Given the description of an element on the screen output the (x, y) to click on. 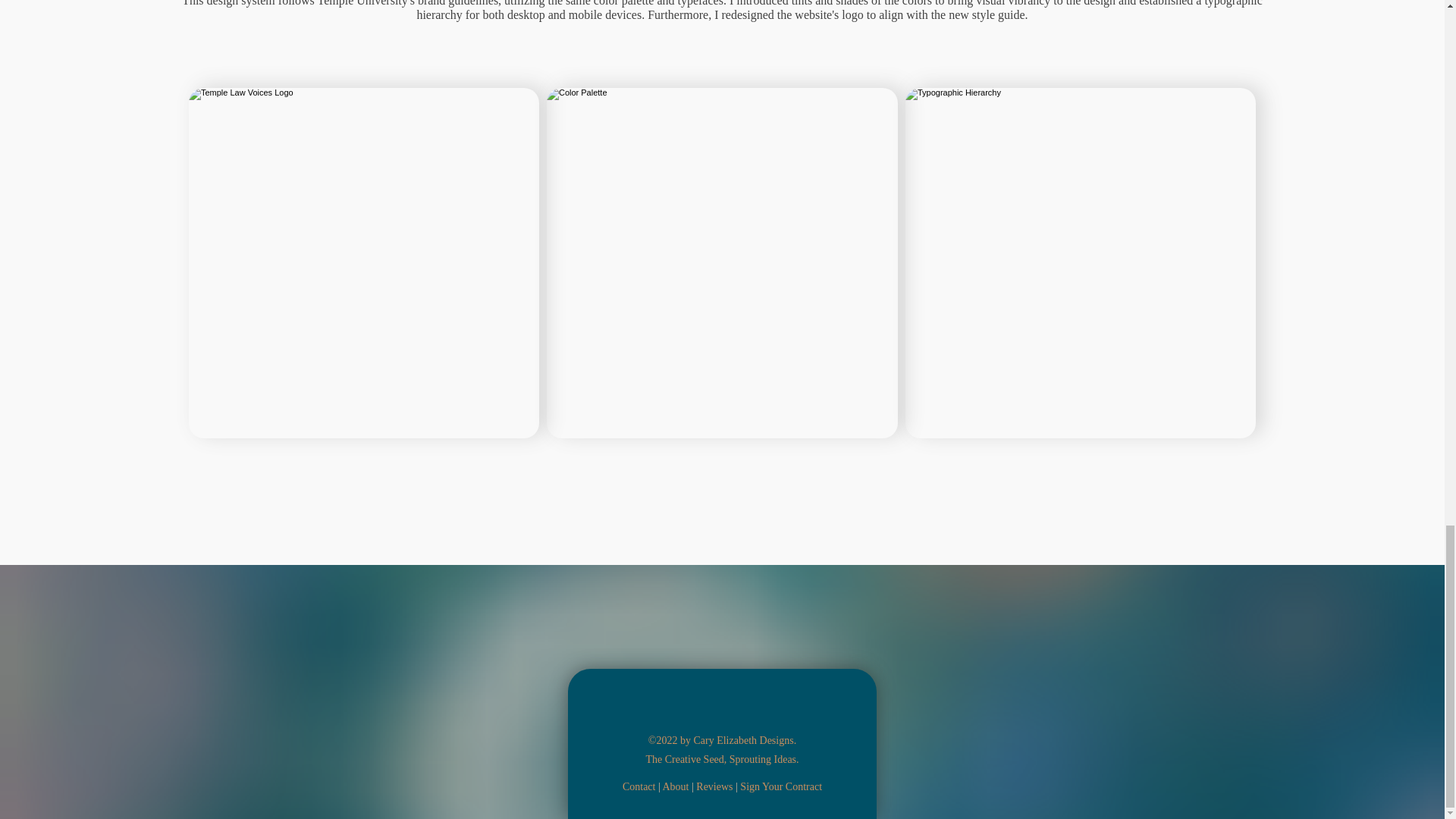
Reviews (713, 786)
Contact (639, 786)
Sign Your Contract (780, 786)
About (675, 786)
